Given the description of an element on the screen output the (x, y) to click on. 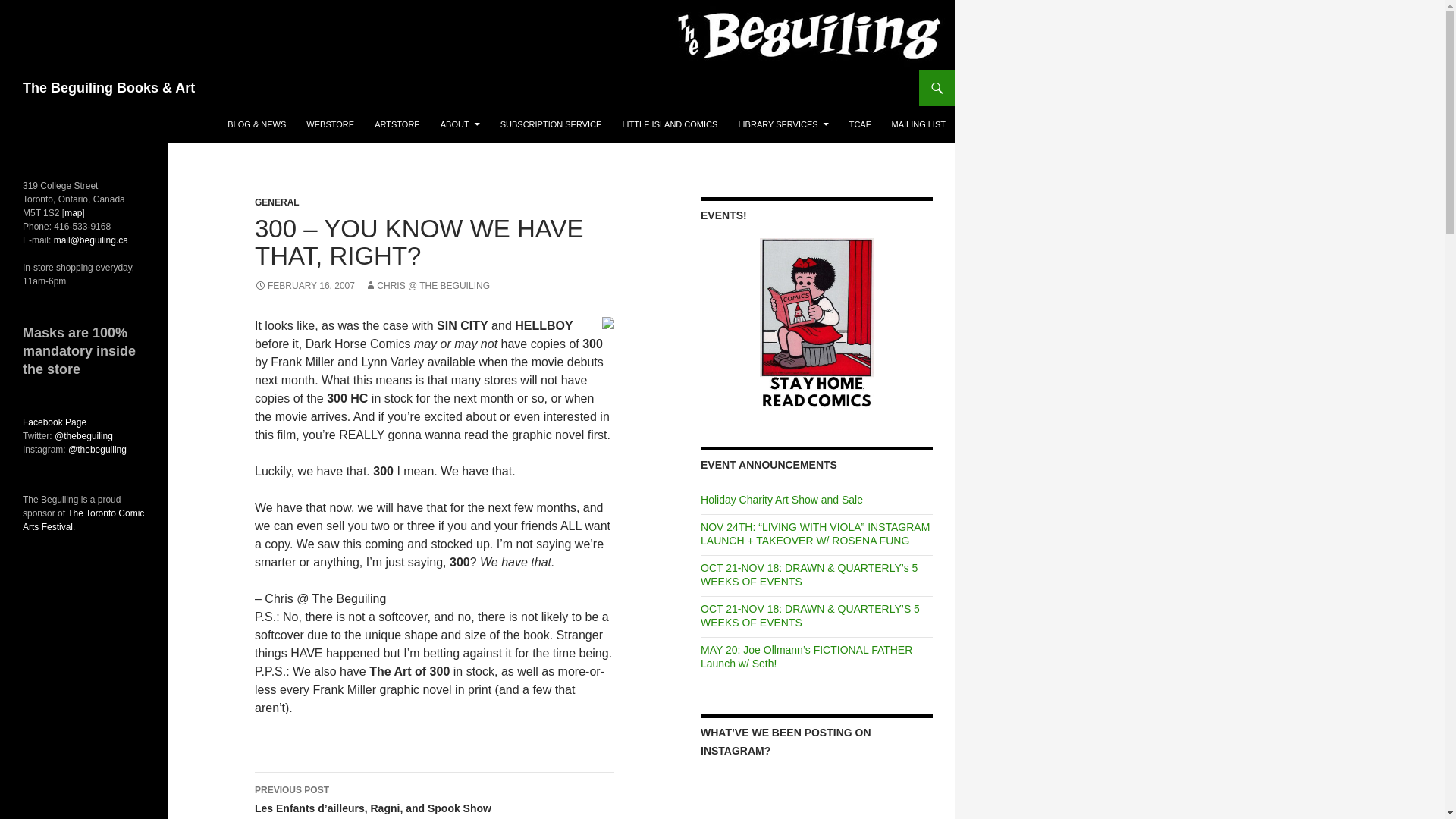
LITTLE ISLAND COMICS (669, 124)
Facebook Page (54, 421)
ABOUT (459, 124)
map (72, 213)
GENERAL (276, 202)
The Toronto Comic Arts Festival (83, 519)
MAILING LIST (918, 124)
SUBSCRIPTION SERVICE (551, 124)
ARTSTORE (397, 124)
Holiday Charity Art Show and Sale (781, 499)
